Given the description of an element on the screen output the (x, y) to click on. 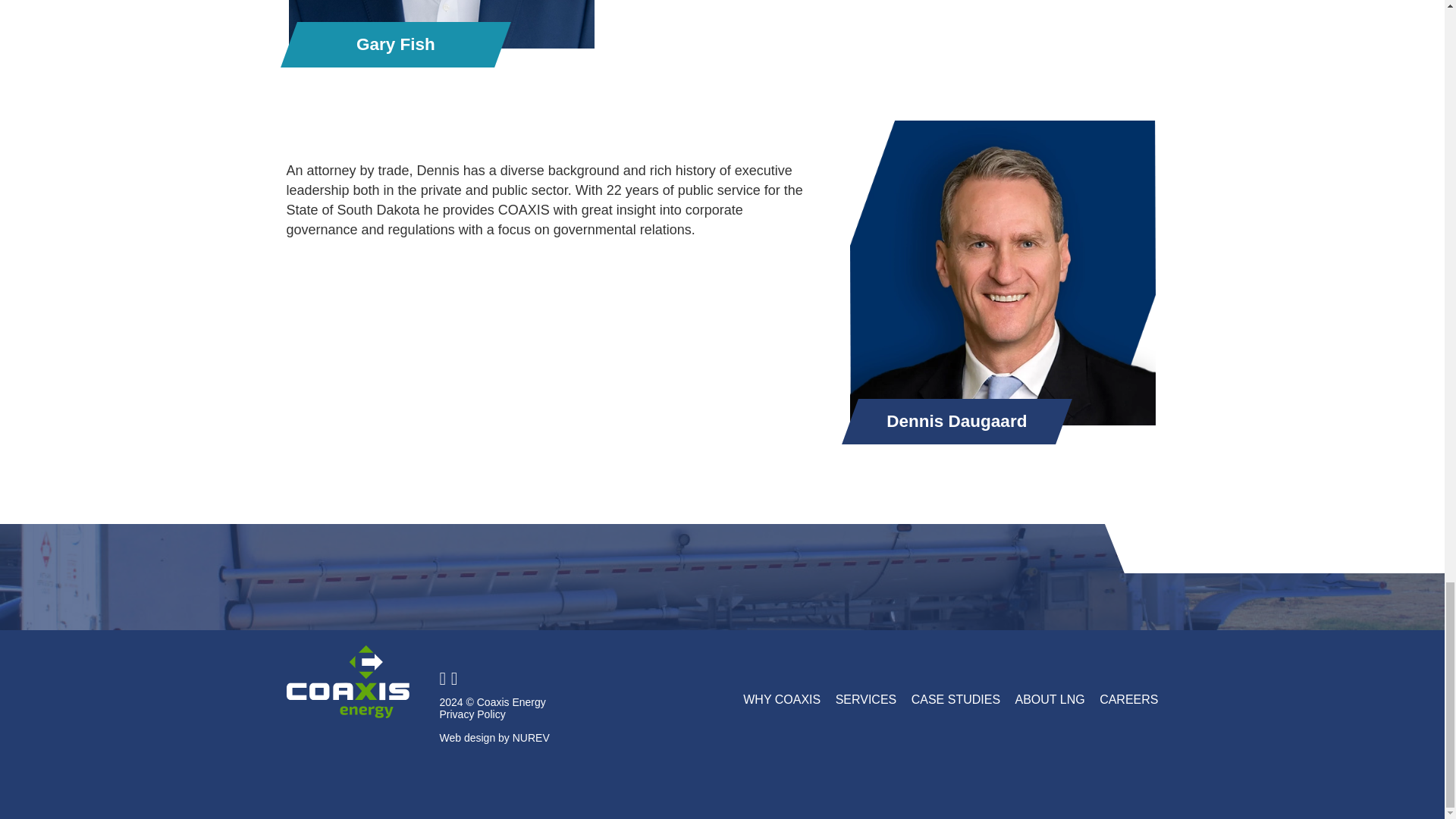
SERVICES (865, 698)
CASE STUDIES (955, 698)
Privacy Policy (472, 714)
NUREV (531, 737)
WHY COAXIS (781, 698)
